Given the description of an element on the screen output the (x, y) to click on. 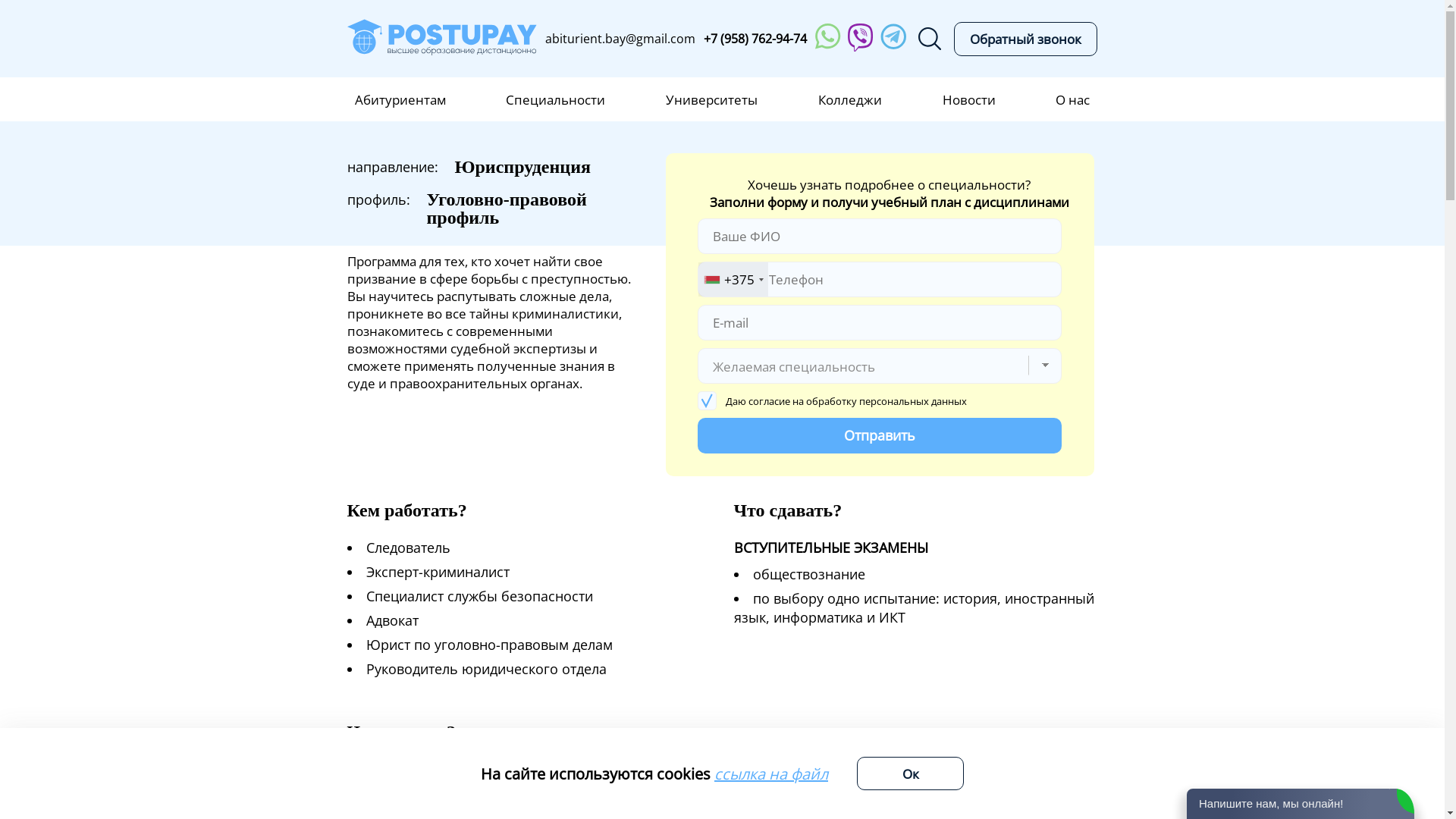
+7 (958) 762-94-74 Element type: text (754, 38)
abiturient.bay@gmail.com Element type: text (620, 38)
